Given the description of an element on the screen output the (x, y) to click on. 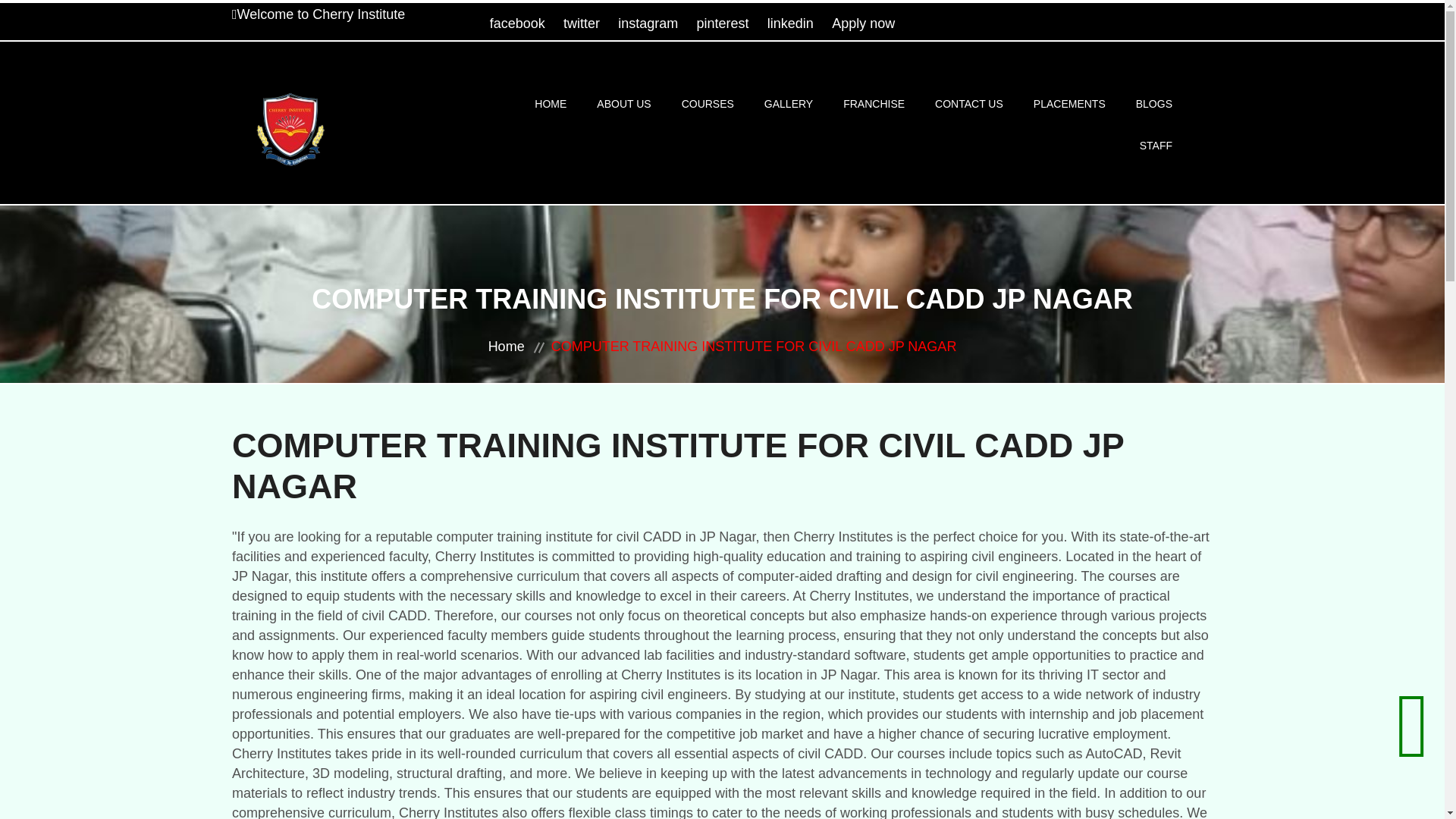
Apply now (863, 23)
about (623, 104)
linkedin (790, 23)
ABOUT US (623, 104)
linkedin (790, 23)
COURSES (707, 104)
facebook (516, 23)
twitter (581, 23)
Apply now (863, 23)
instagram (647, 23)
